Given the description of an element on the screen output the (x, y) to click on. 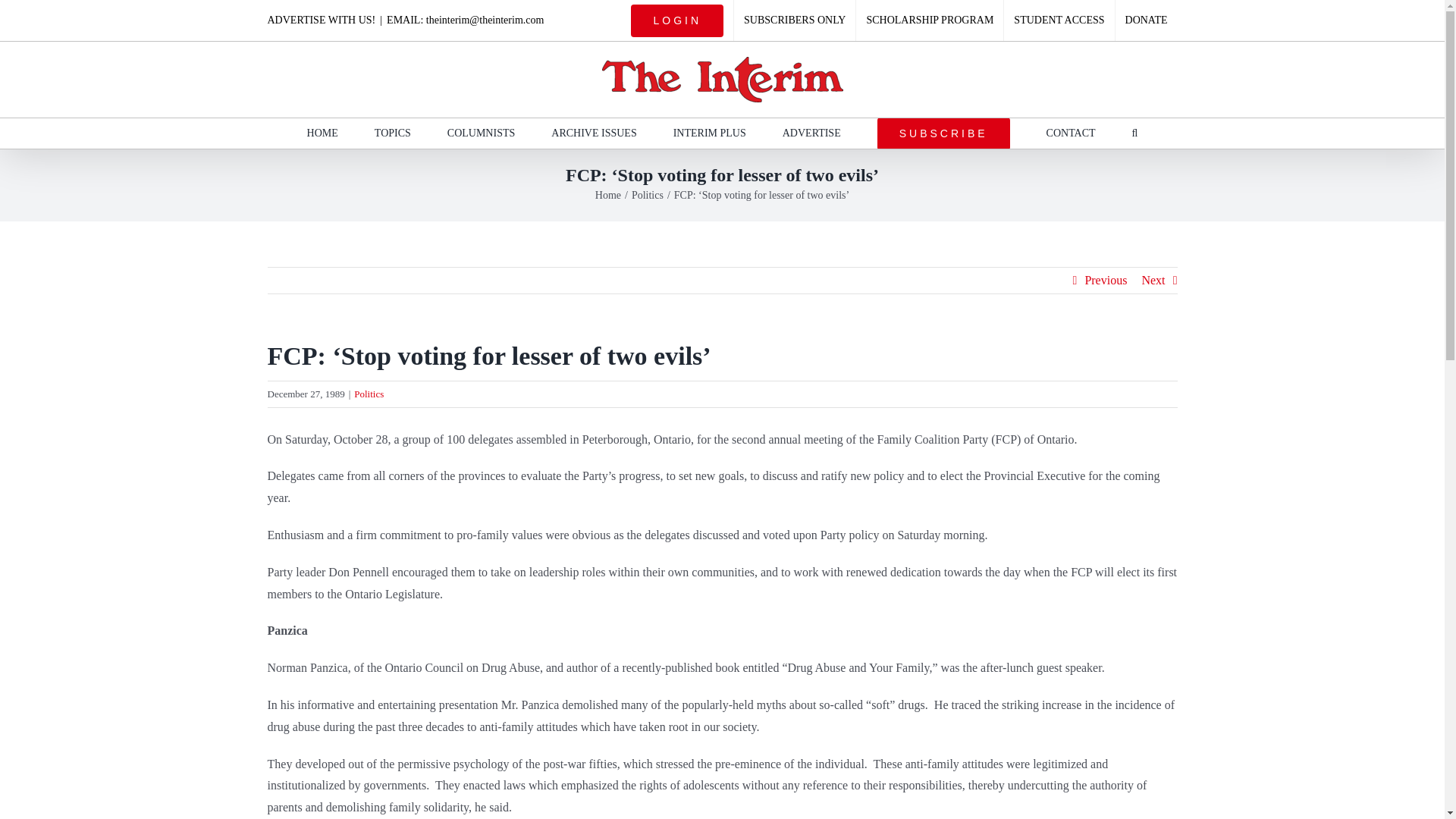
Next (1152, 280)
SUBSCRIBE (943, 132)
Home (608, 194)
Politics (647, 194)
CONTACT (1071, 132)
SCHOLARSHIP PROGRAM (929, 20)
SUBSCRIBERS ONLY (794, 20)
TOPICS (392, 132)
ADVERTISE (812, 132)
LOGIN (677, 20)
